Given the description of an element on the screen output the (x, y) to click on. 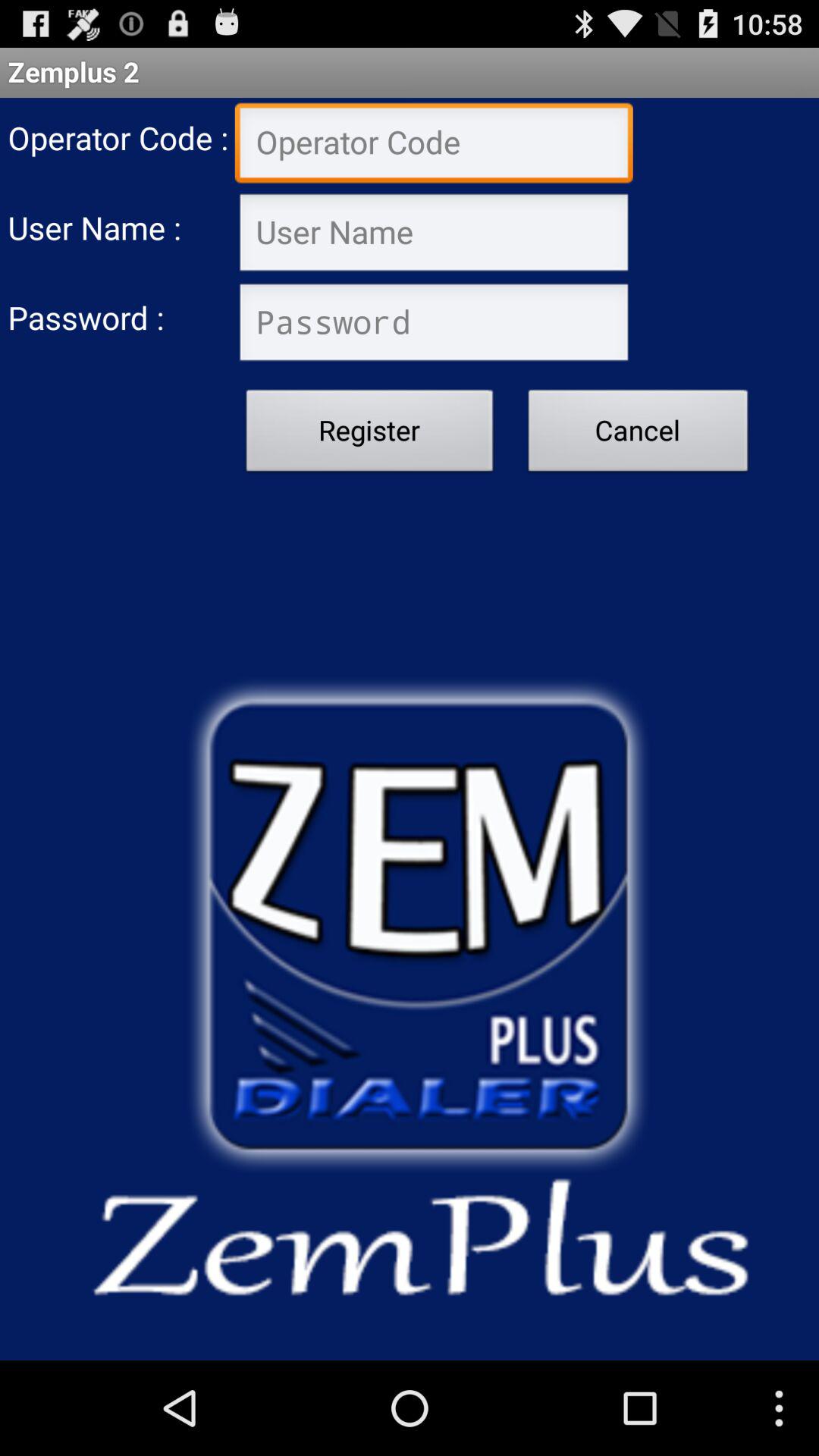
enter password (433, 324)
